Given the description of an element on the screen output the (x, y) to click on. 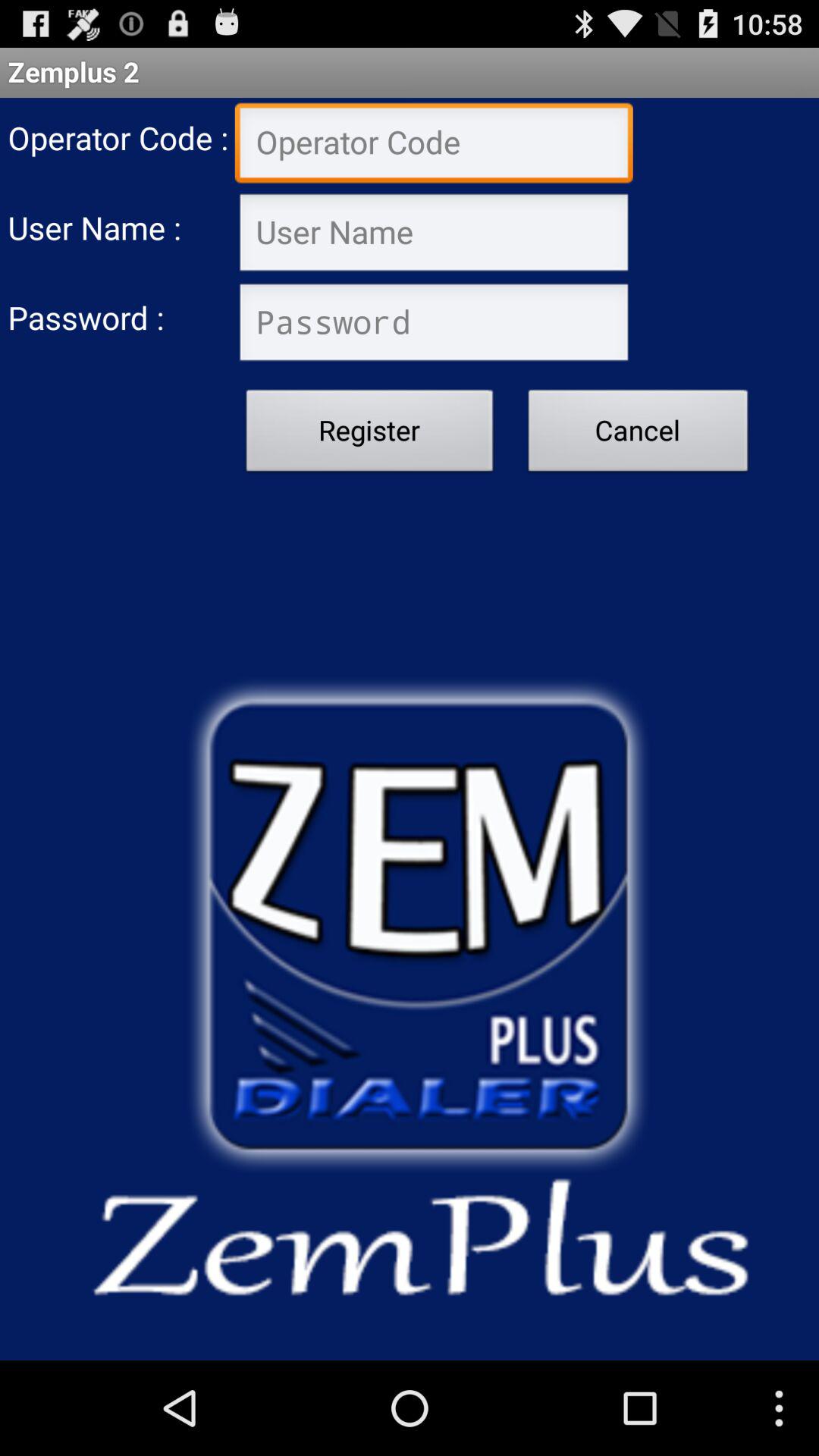
enter password (433, 324)
